Given the description of an element on the screen output the (x, y) to click on. 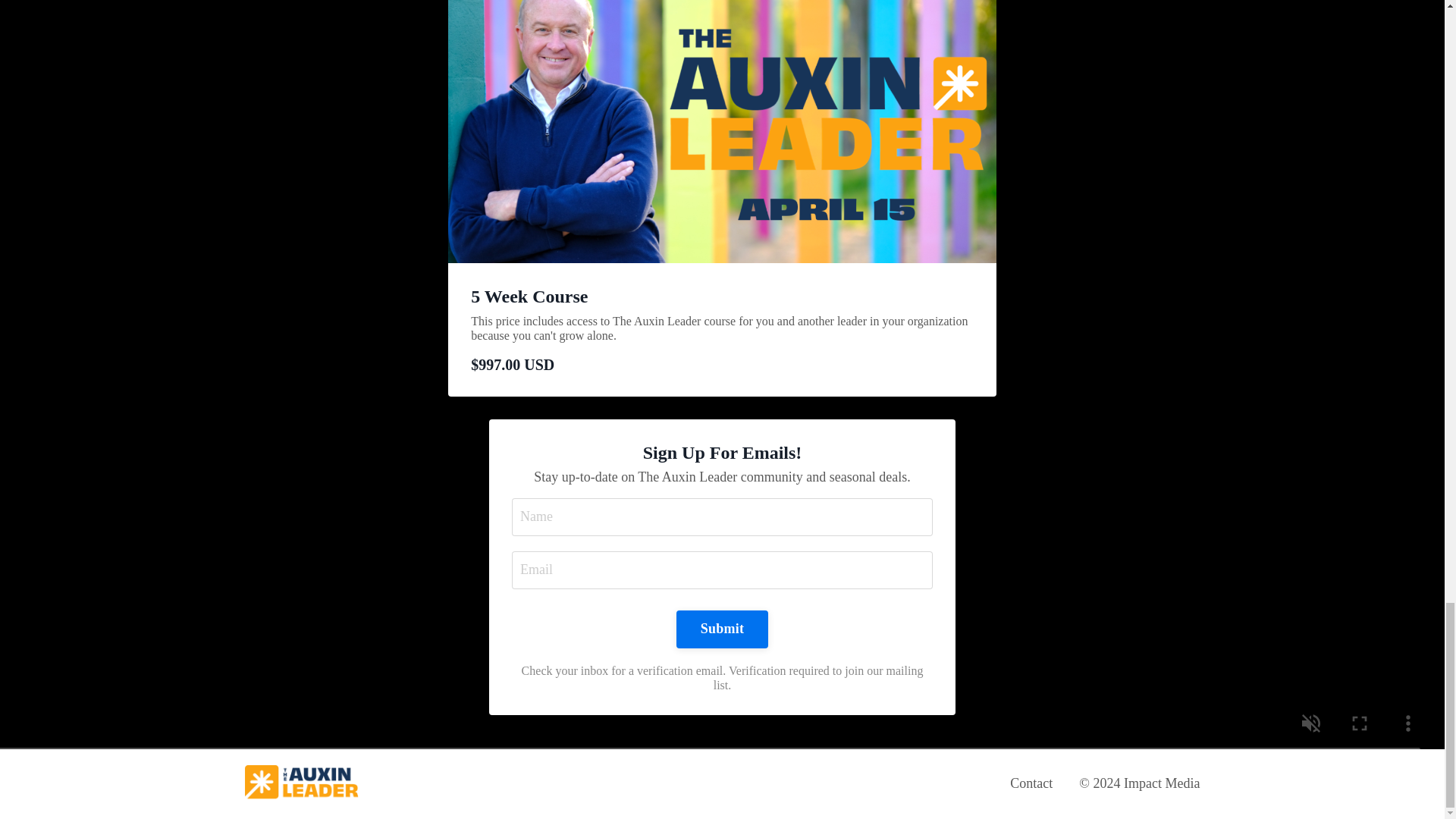
Submit (722, 629)
